Given the description of an element on the screen output the (x, y) to click on. 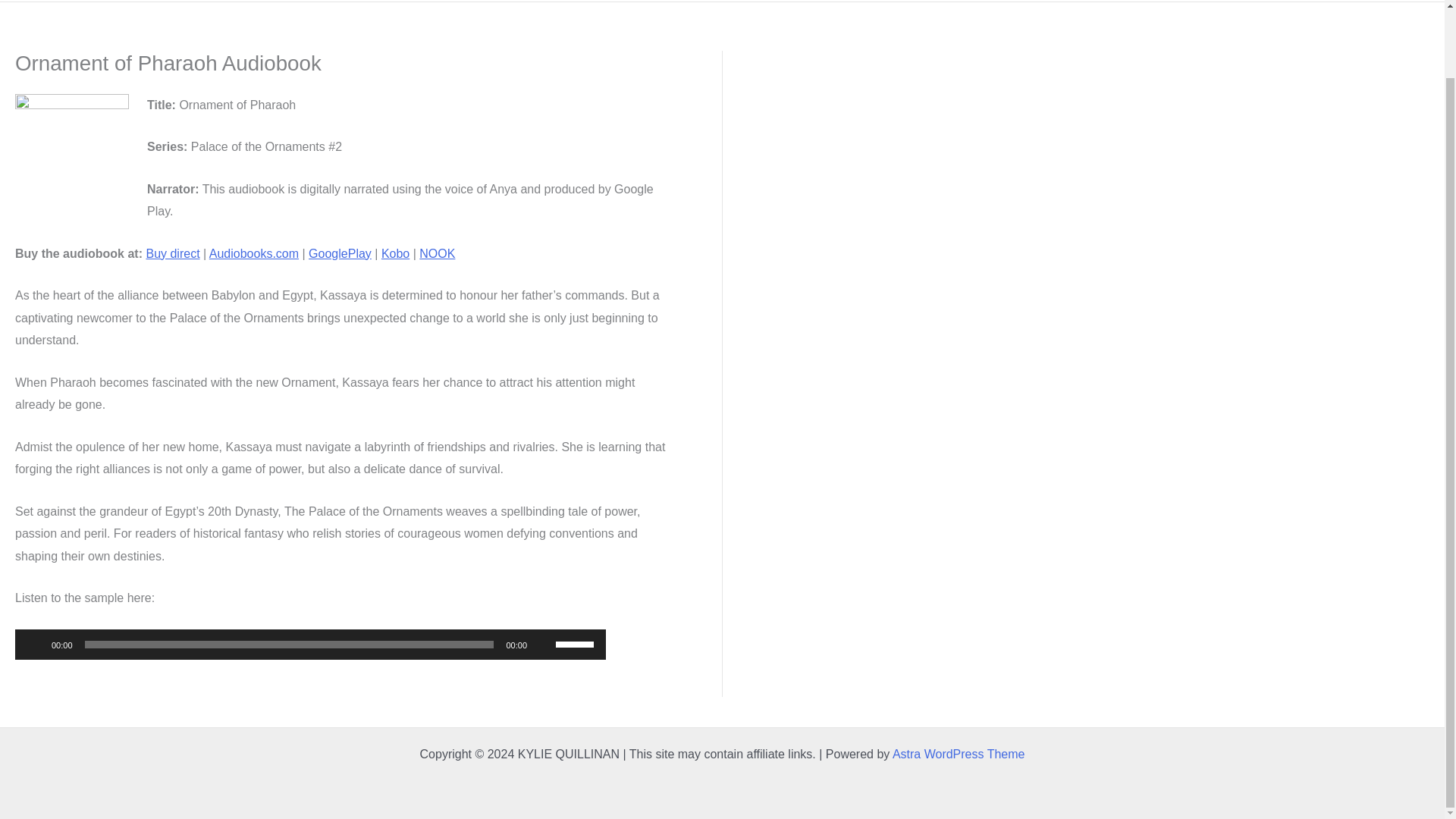
Astra WordPress Theme (958, 753)
Audiobooks.com (253, 253)
NOOK (436, 253)
Kobo (395, 253)
Play (34, 644)
Buy direct (172, 253)
Mute (543, 644)
GooglePlay (339, 253)
